Given the description of an element on the screen output the (x, y) to click on. 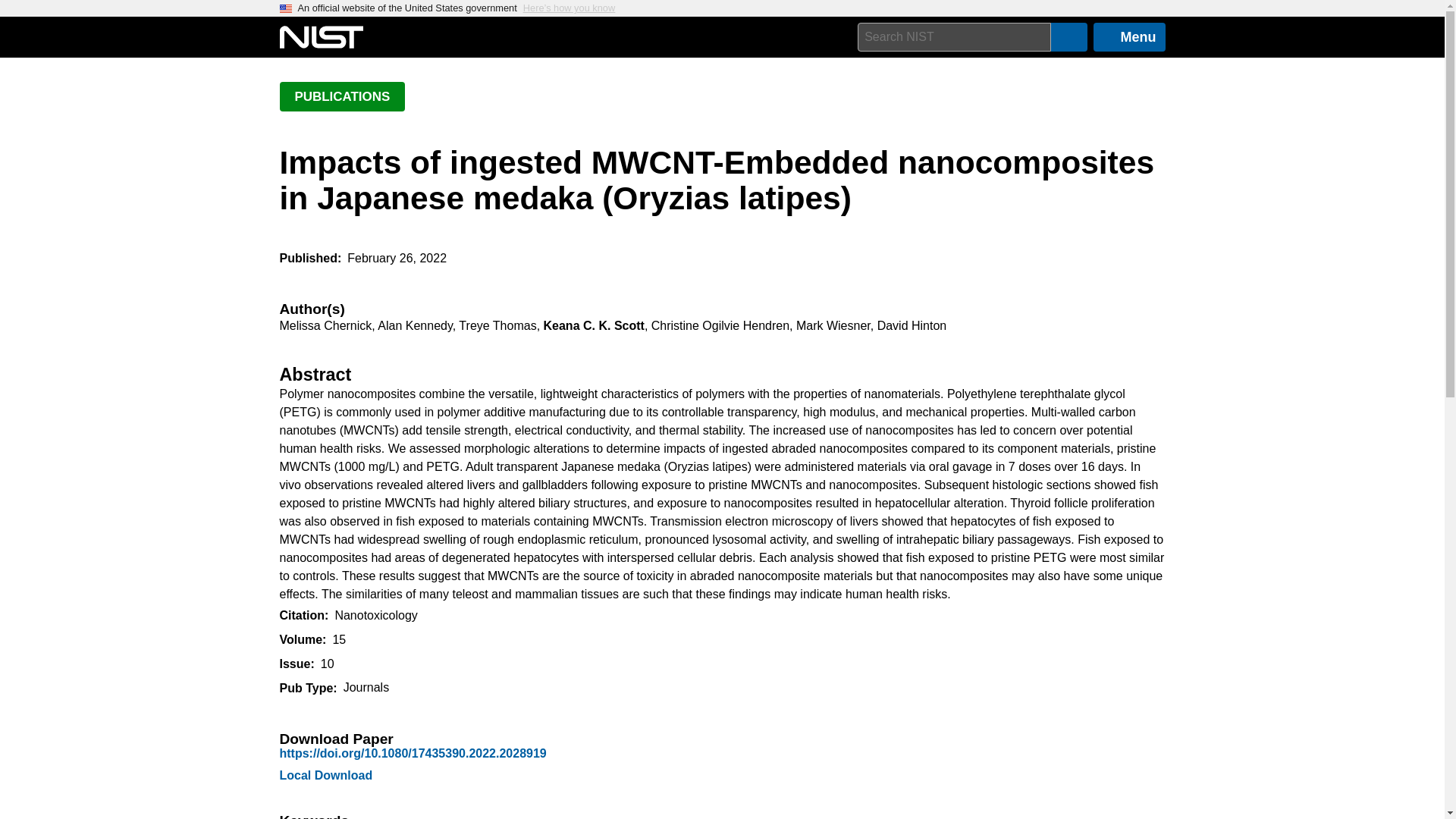
Menu (1129, 36)
National Institute of Standards and Technology (320, 36)
